Given the description of an element on the screen output the (x, y) to click on. 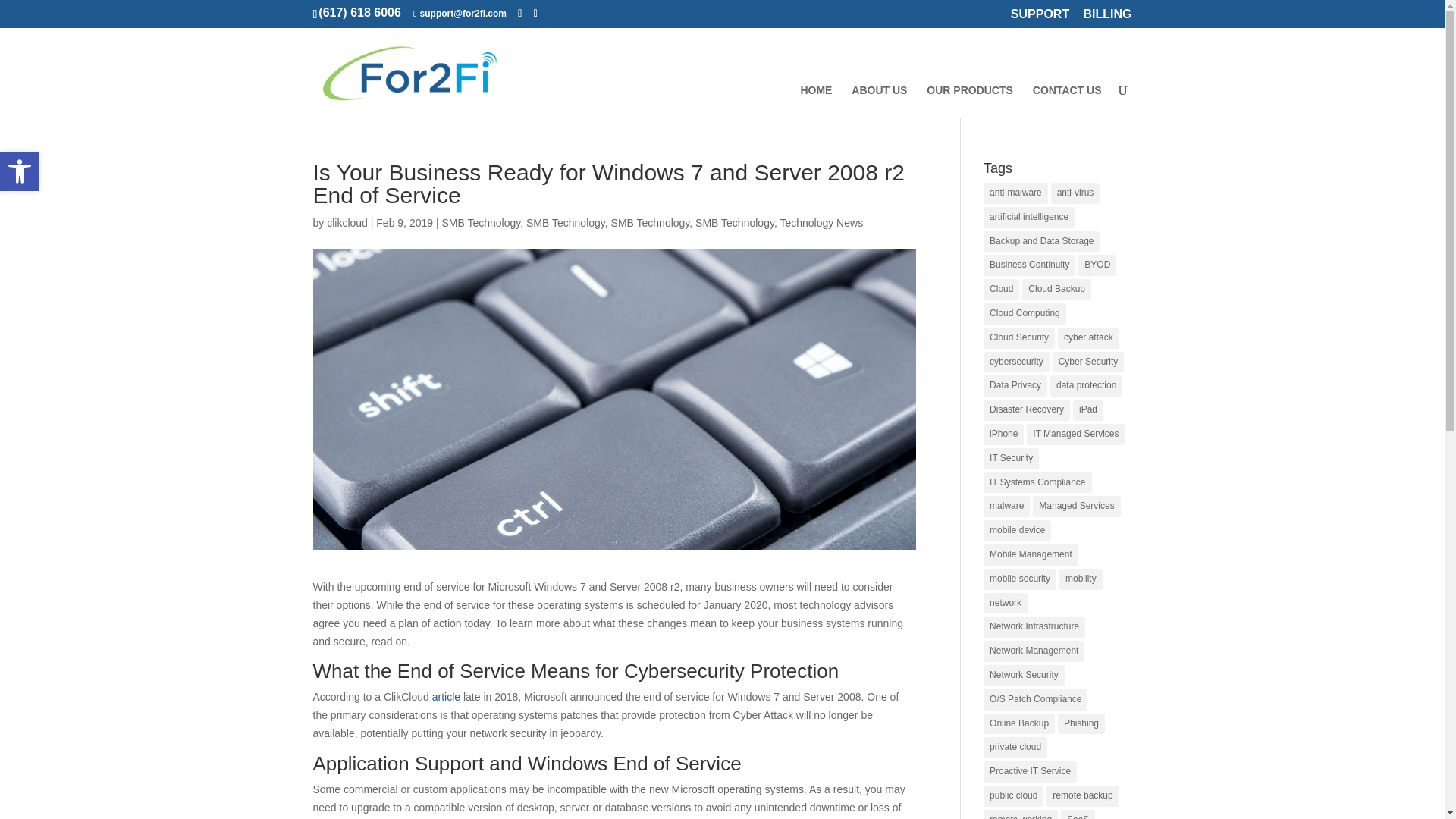
BILLING (1107, 18)
Posts by clikcloud (347, 223)
HOME (815, 101)
clikcloud (347, 223)
ABOUT US (879, 101)
Accessibility Tools (19, 170)
OUR PRODUCTS (969, 101)
CONTACT US (1067, 101)
SUPPORT (19, 170)
